Given the description of an element on the screen output the (x, y) to click on. 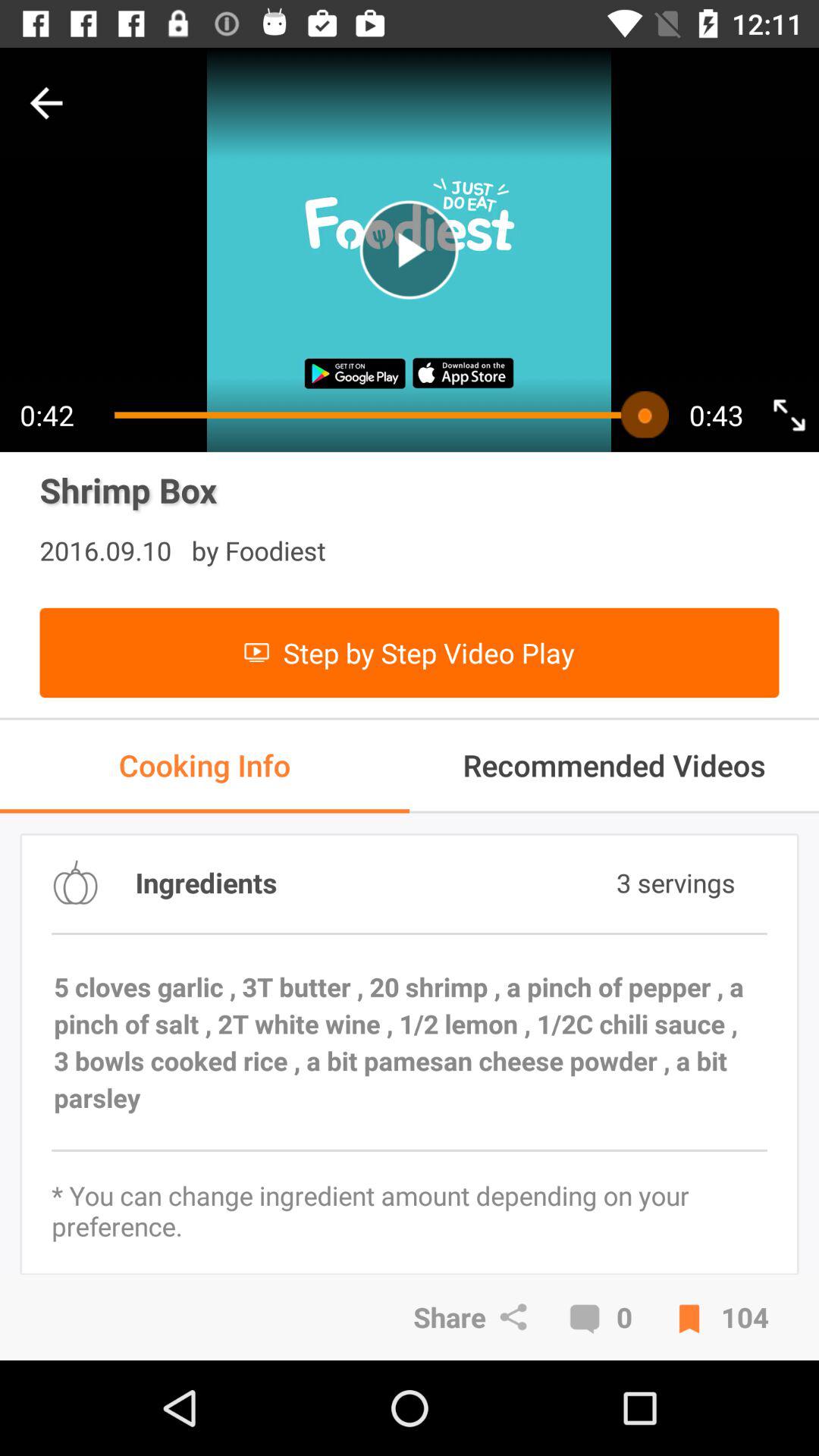
playing the option (408, 249)
